Given the description of an element on the screen output the (x, y) to click on. 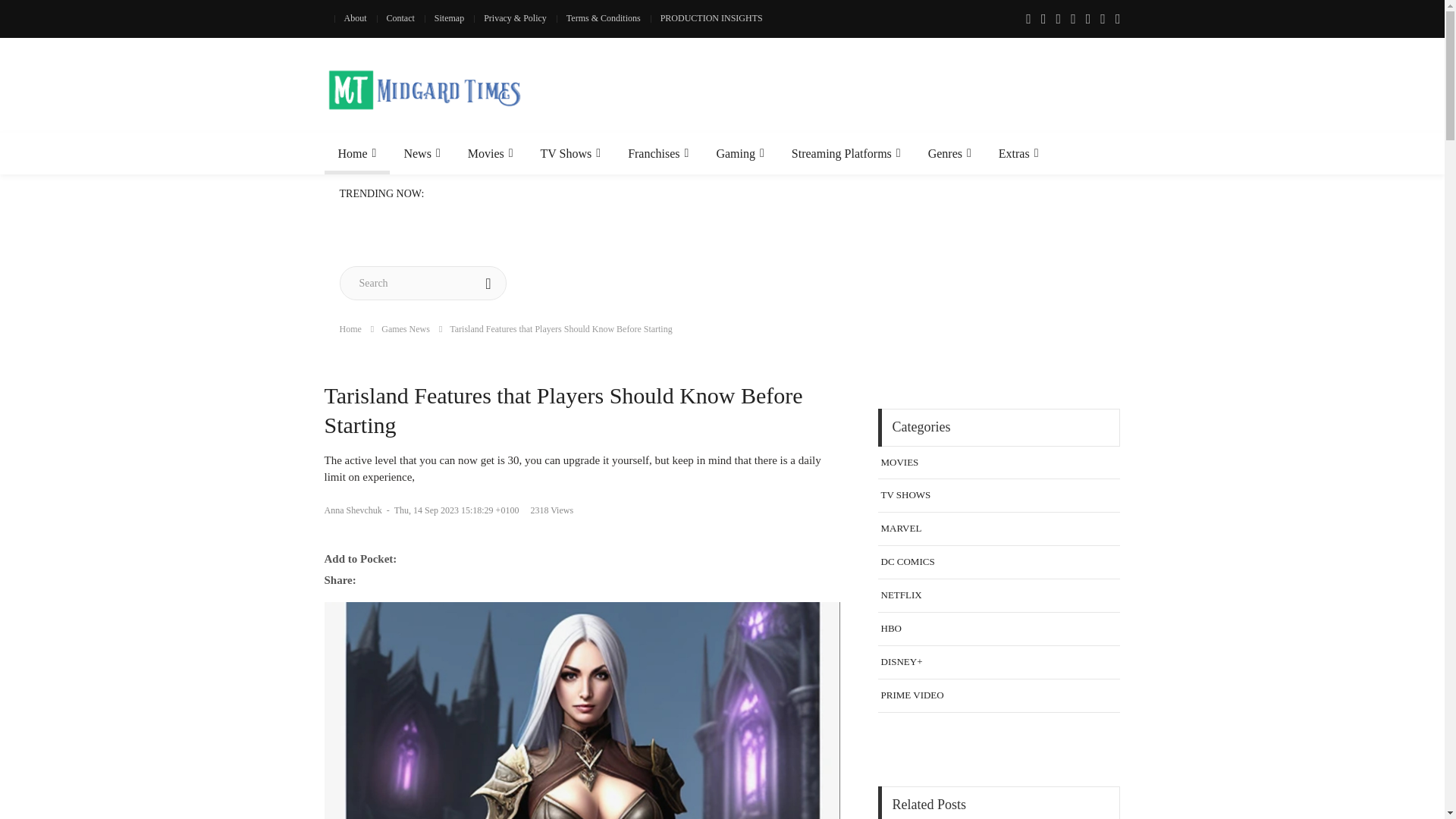
PRODUCTION INSIGHTS (711, 18)
Contact (399, 18)
About (354, 18)
Sitemap (449, 18)
